Given the description of an element on the screen output the (x, y) to click on. 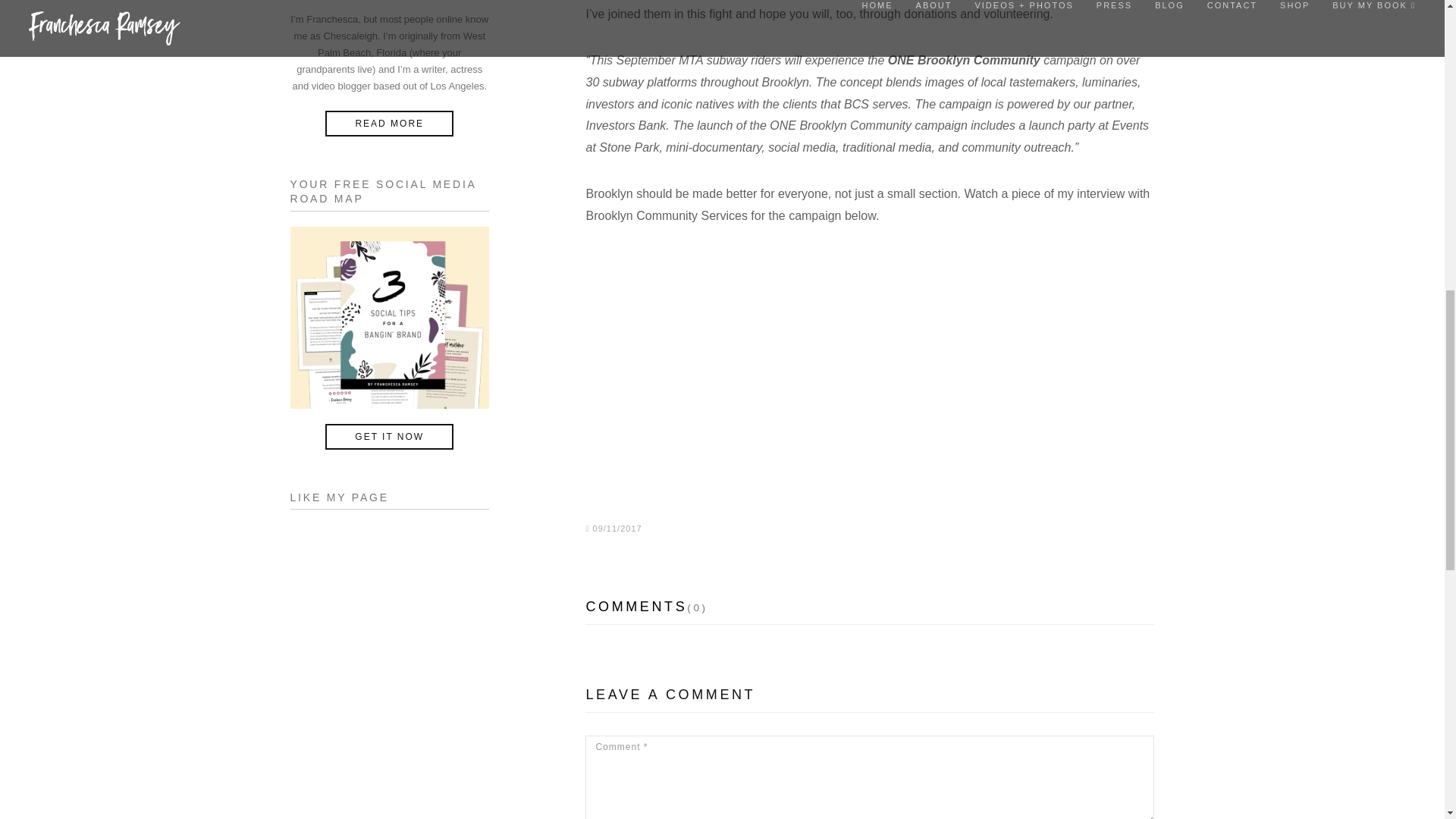
about (388, 123)
GET IT NOW (388, 436)
READ MORE (388, 123)
Get It Now (388, 436)
Ebook (389, 317)
